Given the description of an element on the screen output the (x, y) to click on. 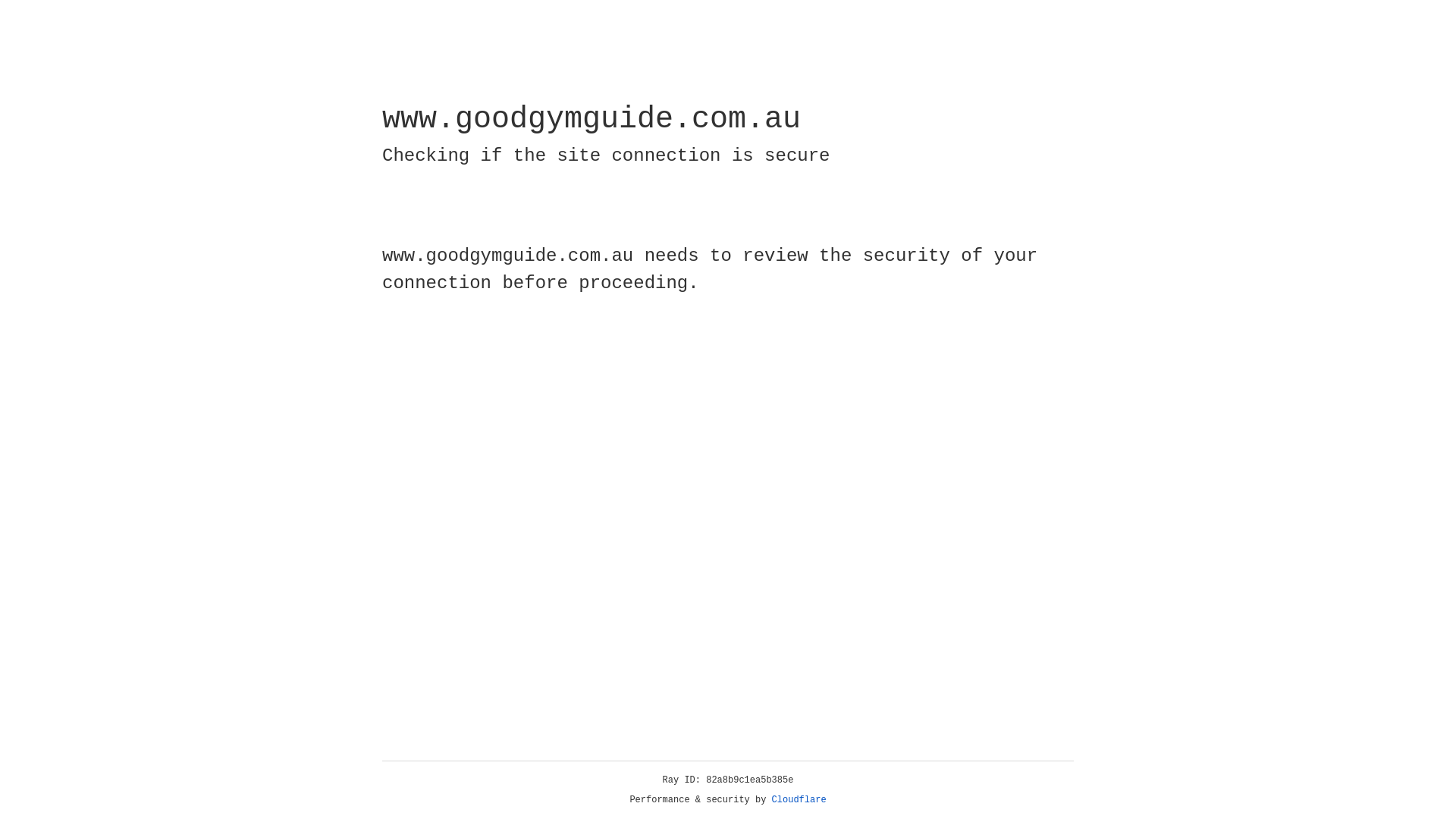
Cloudflare Element type: text (798, 799)
